Given the description of an element on the screen output the (x, y) to click on. 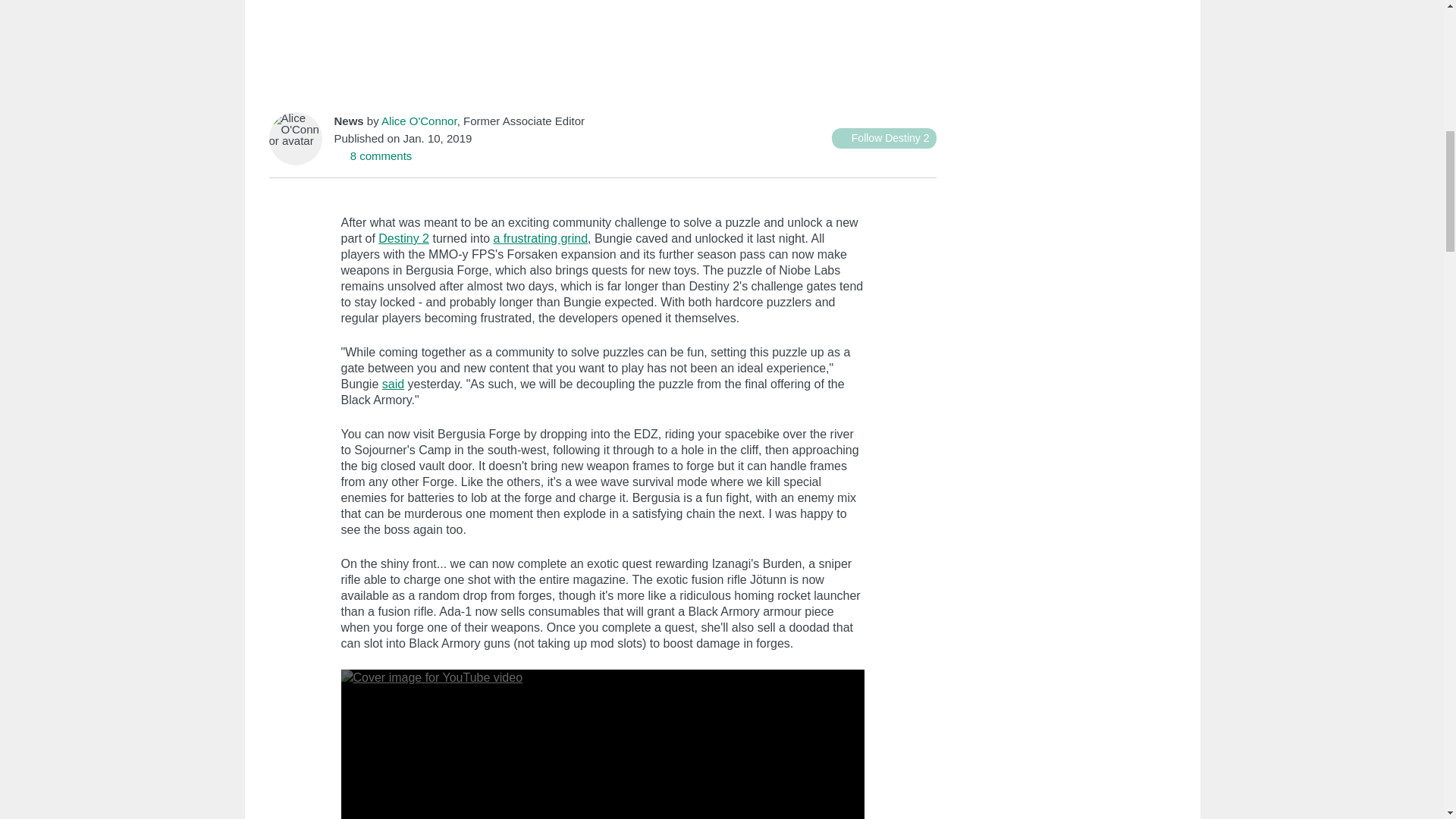
a frustrating grind (540, 237)
said (392, 383)
8 comments (372, 155)
Alice O'Connor (419, 120)
Destiny 2 (403, 237)
Follow Destiny 2 (883, 137)
